Given the description of an element on the screen output the (x, y) to click on. 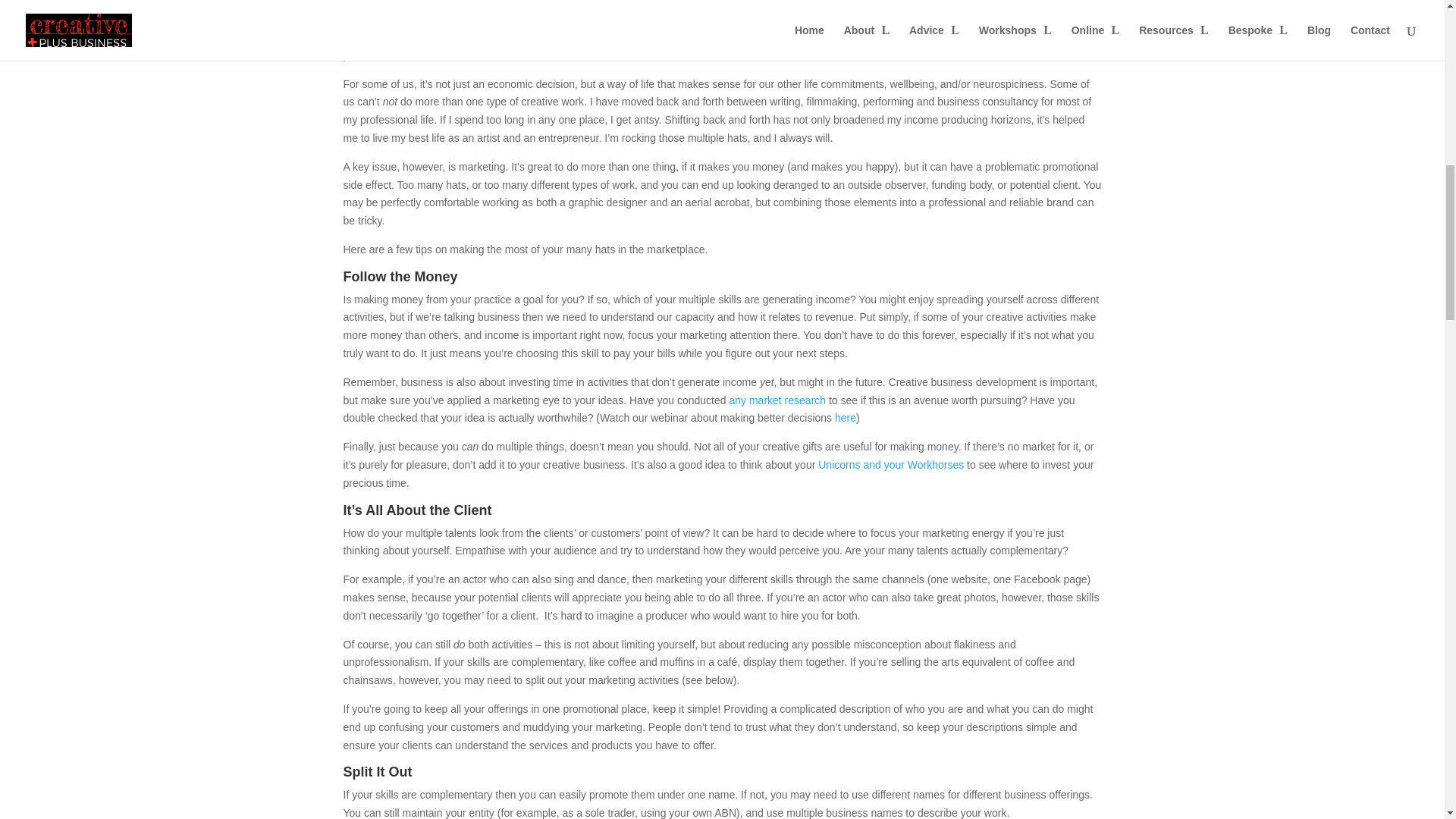
here (845, 417)
any market research (777, 399)
